Given the description of an element on the screen output the (x, y) to click on. 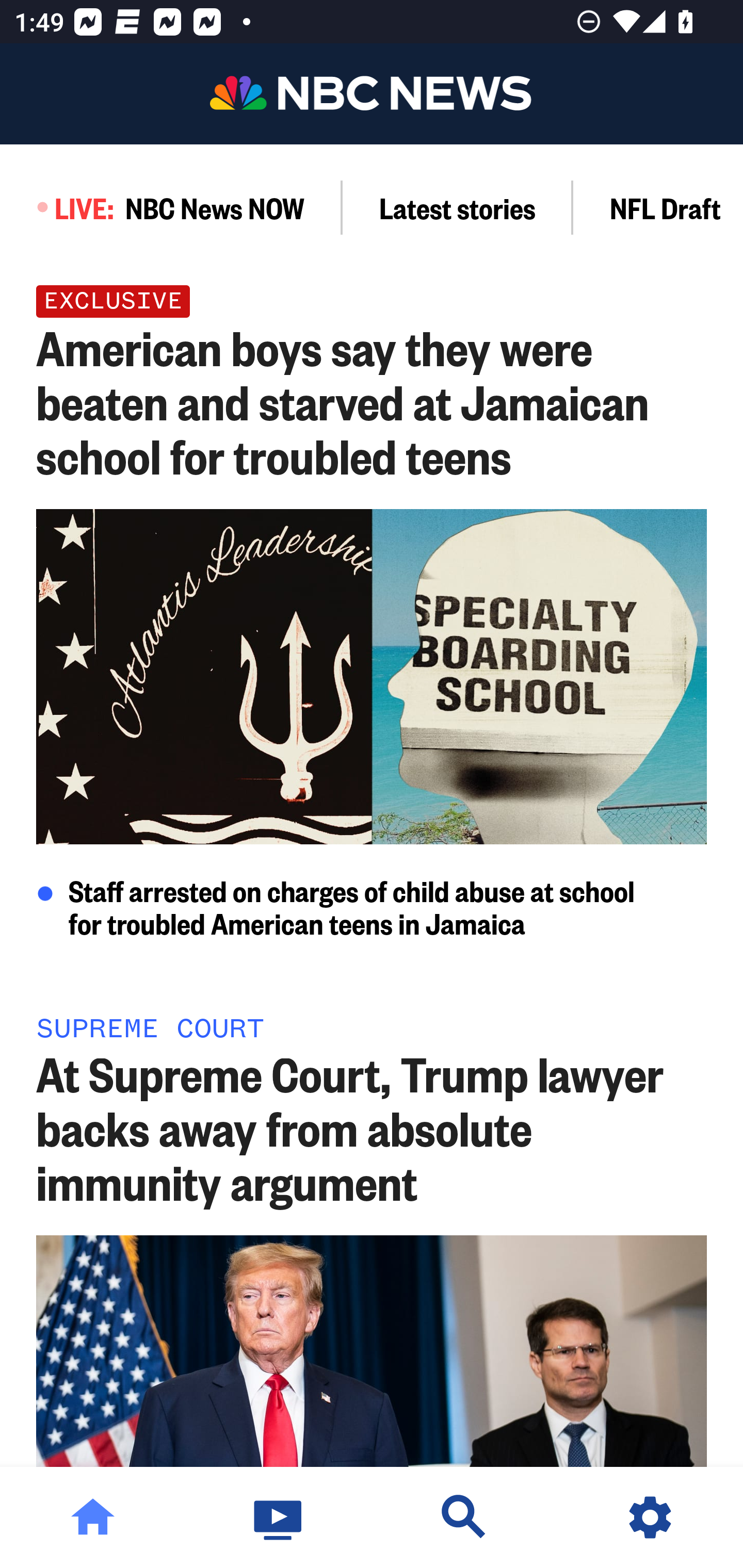
LIVE:  NBC News NOW (171, 207)
Latest stories Section,Latest stories (457, 207)
NFL Draft (658, 207)
Watch (278, 1517)
Discover (464, 1517)
Settings (650, 1517)
